Given the description of an element on the screen output the (x, y) to click on. 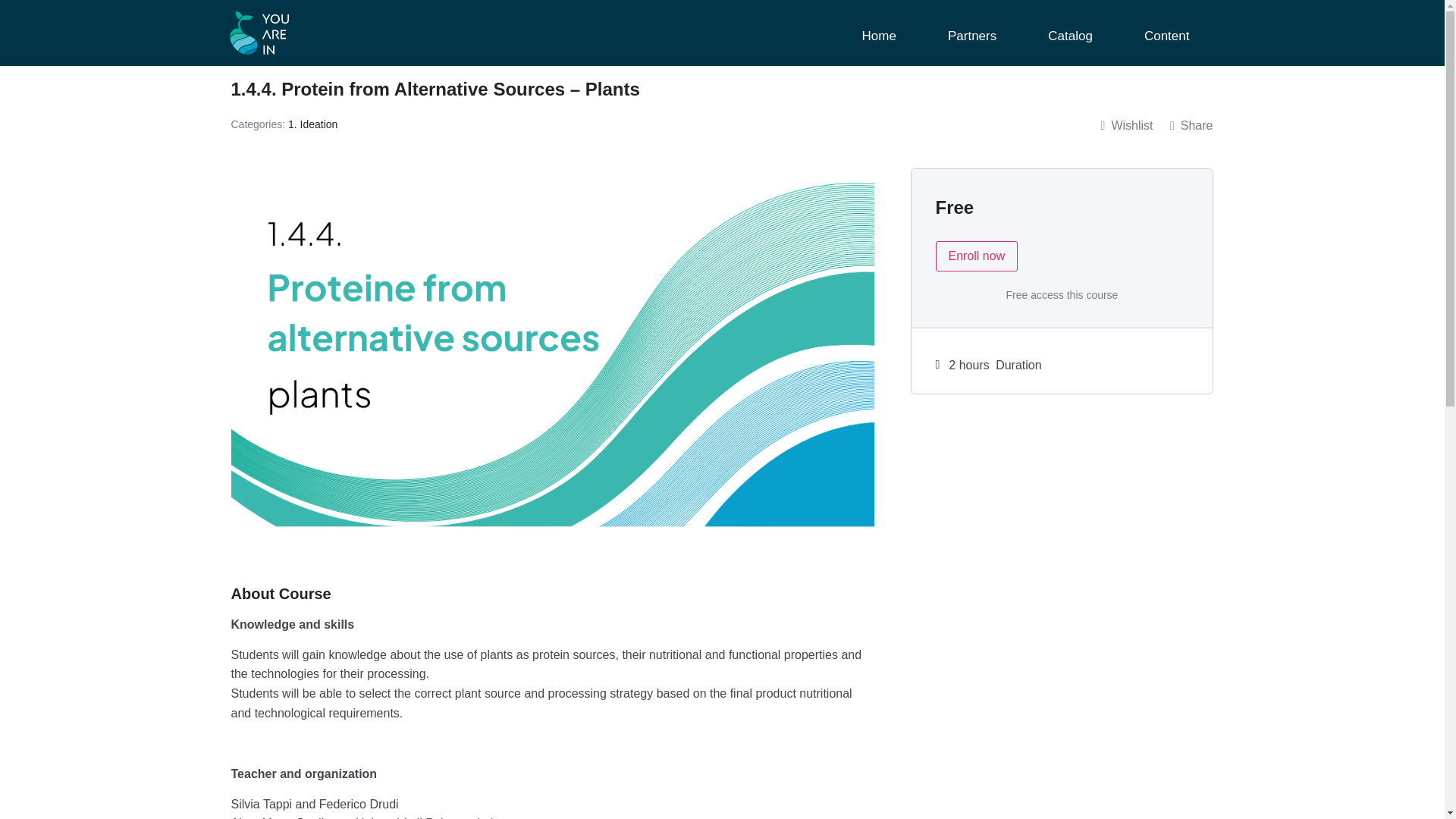
Home (878, 36)
Catalog (1070, 36)
Content (1166, 36)
Share (1191, 126)
Wishlist (1127, 126)
Enroll now (976, 255)
1. Ideation (312, 123)
Partners (971, 36)
